Given the description of an element on the screen output the (x, y) to click on. 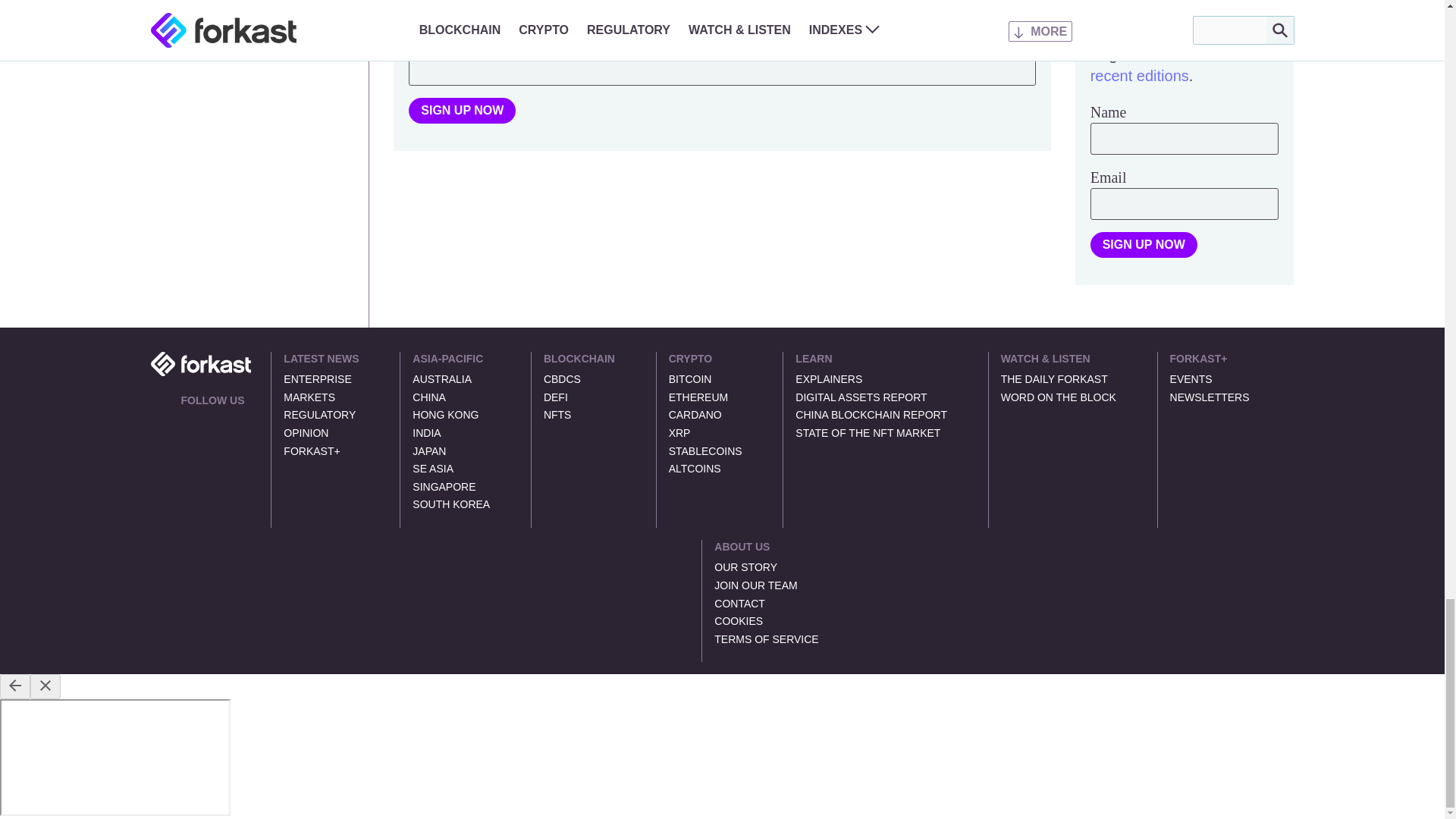
Forkast's profile on Instagram (240, 419)
Sign up now (462, 110)
Forkast's profile on Facebook (222, 419)
Sign up now (1143, 244)
Forkast's profile on LinkedIn (204, 419)
Forkast's profile on Twitter (186, 419)
